Given the description of an element on the screen output the (x, y) to click on. 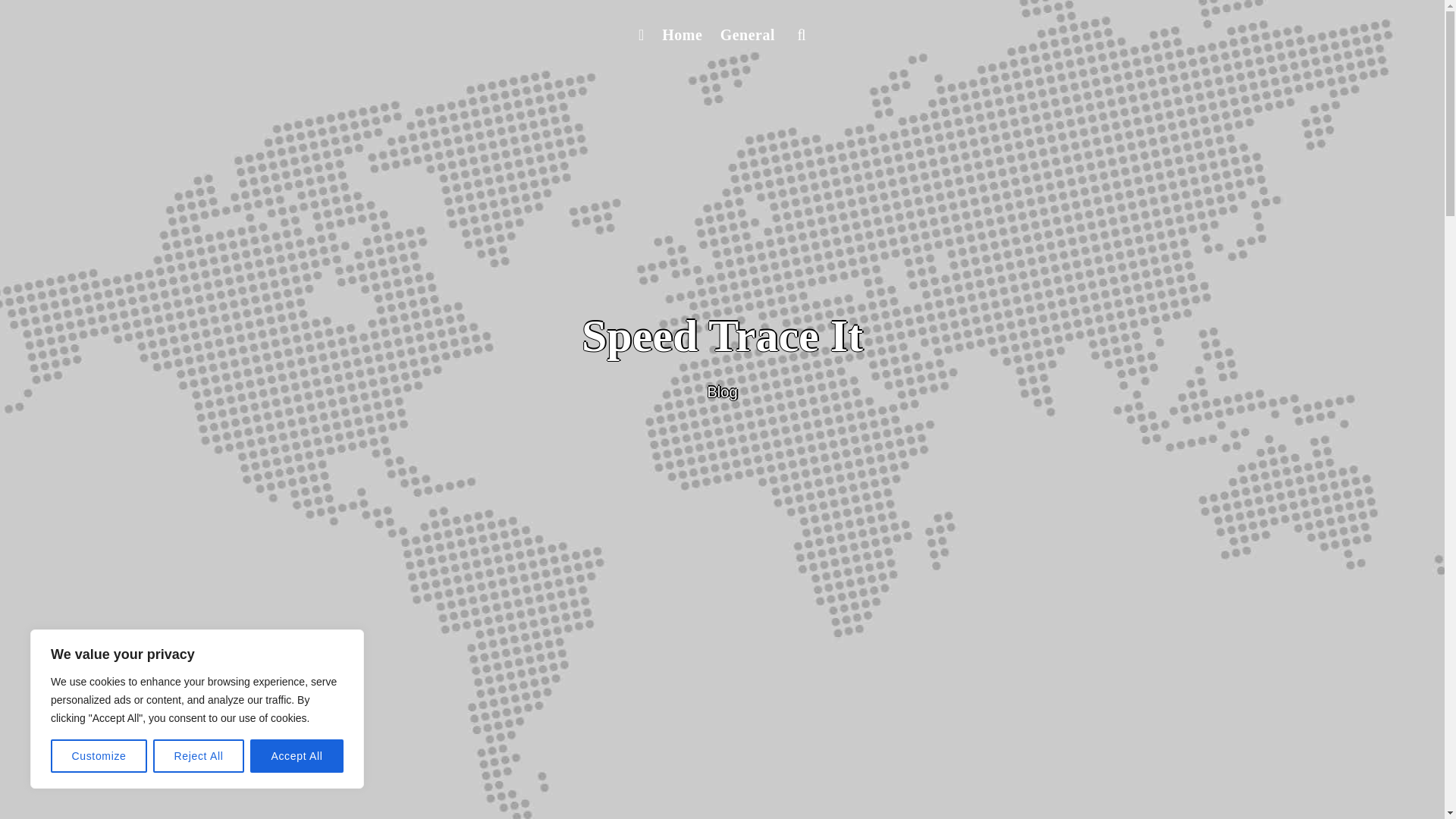
Accept All (296, 756)
Home (681, 35)
Customize (98, 756)
General (747, 35)
Reject All (198, 756)
Speed Trace It (721, 336)
